Given the description of an element on the screen output the (x, y) to click on. 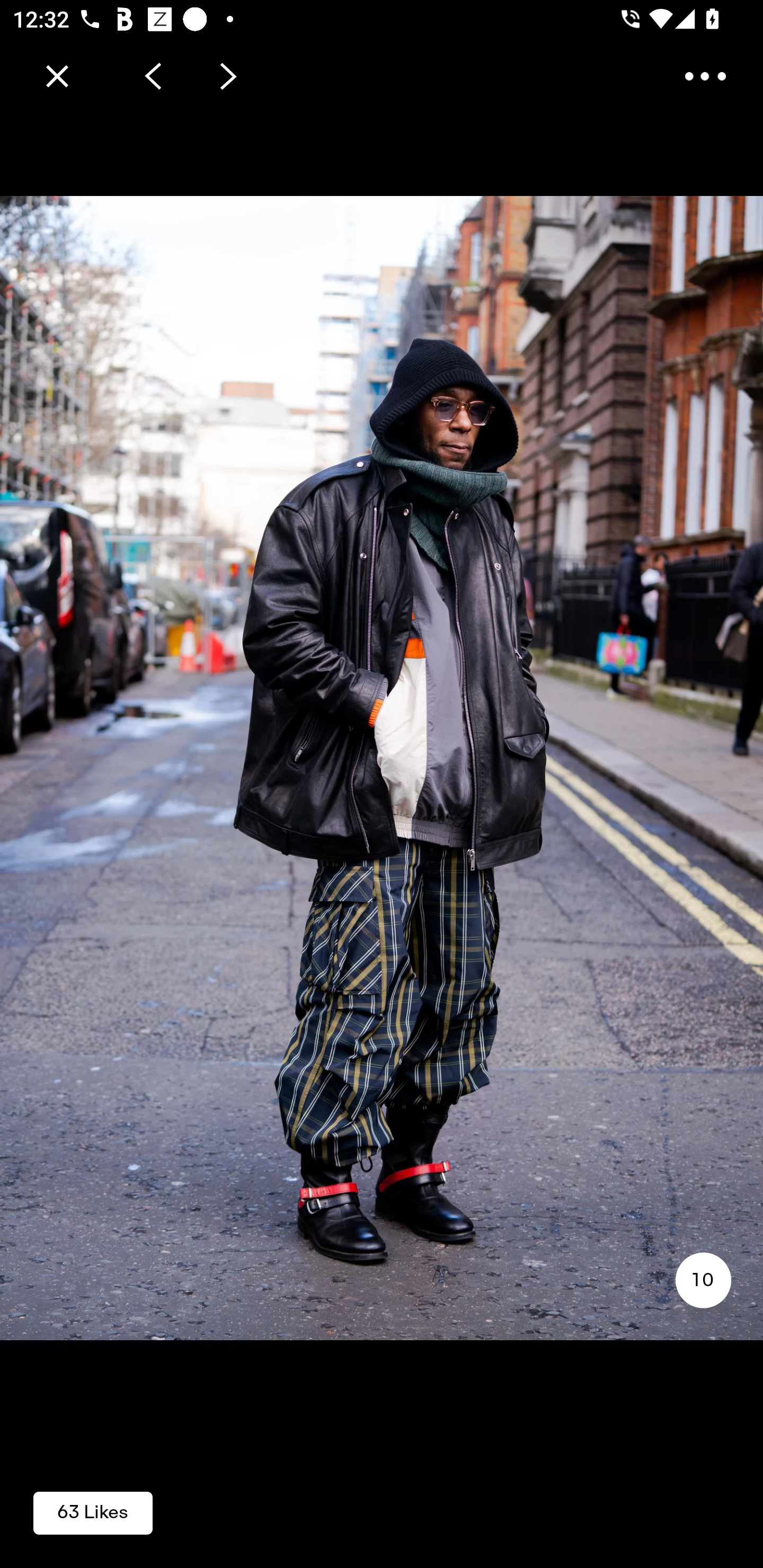
10 (702, 1279)
63 Likes (93, 1512)
